Given the description of an element on the screen output the (x, y) to click on. 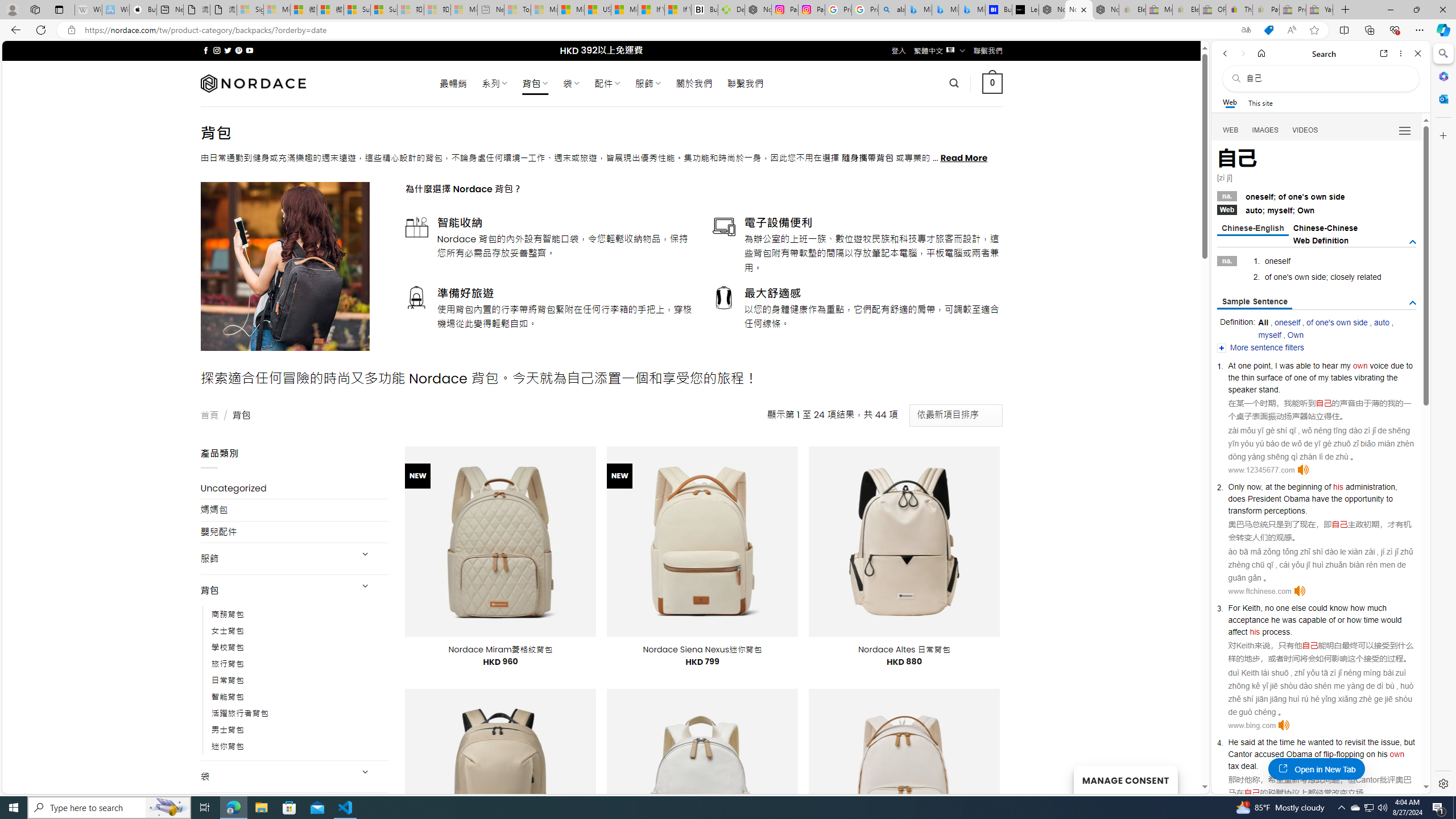
. (1256, 765)
Web Definition (1321, 240)
have (1320, 498)
could (1317, 607)
know (1338, 607)
Follow on Twitter (227, 50)
